Given the description of an element on the screen output the (x, y) to click on. 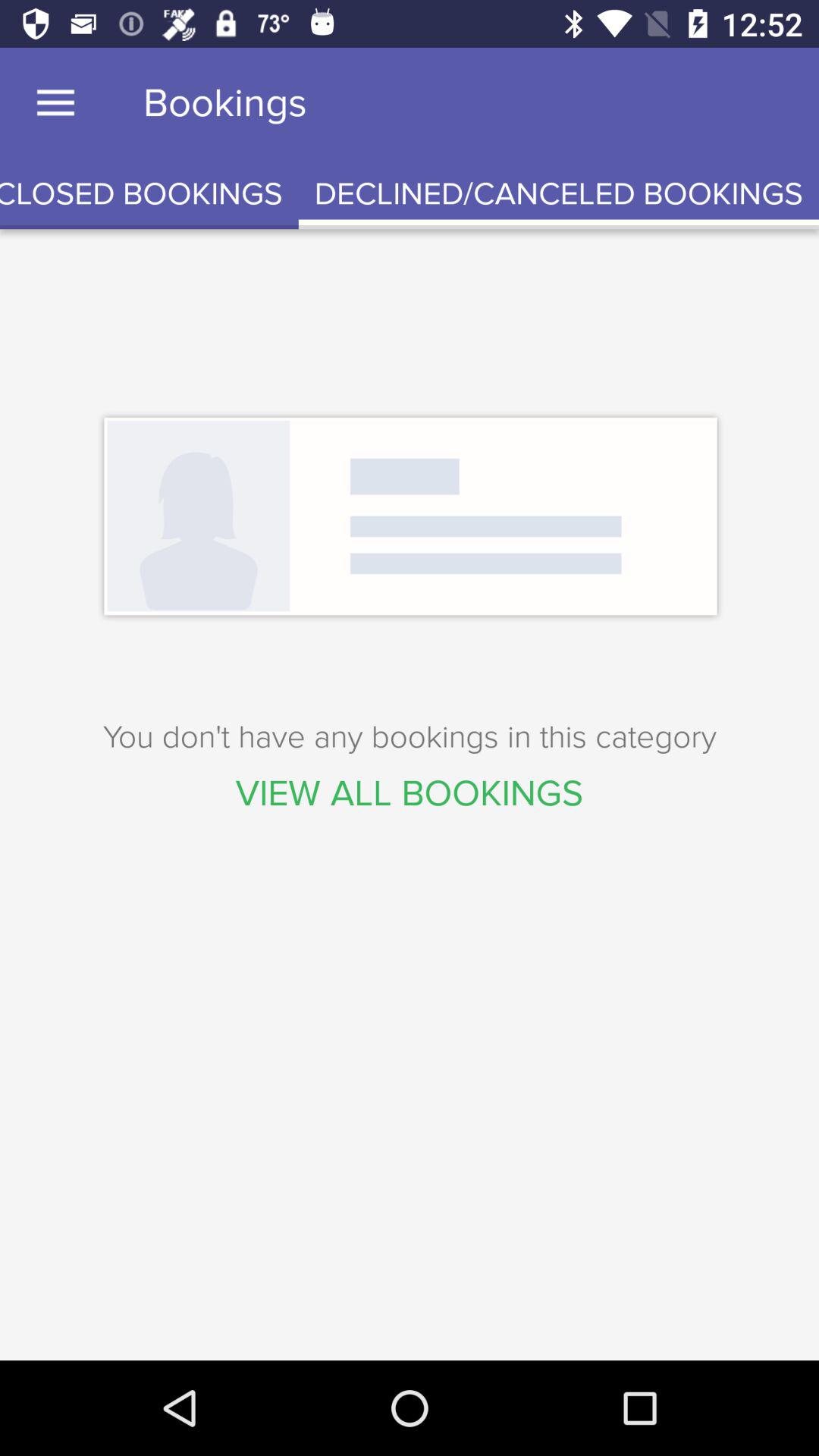
flip to view all bookings icon (409, 793)
